Given the description of an element on the screen output the (x, y) to click on. 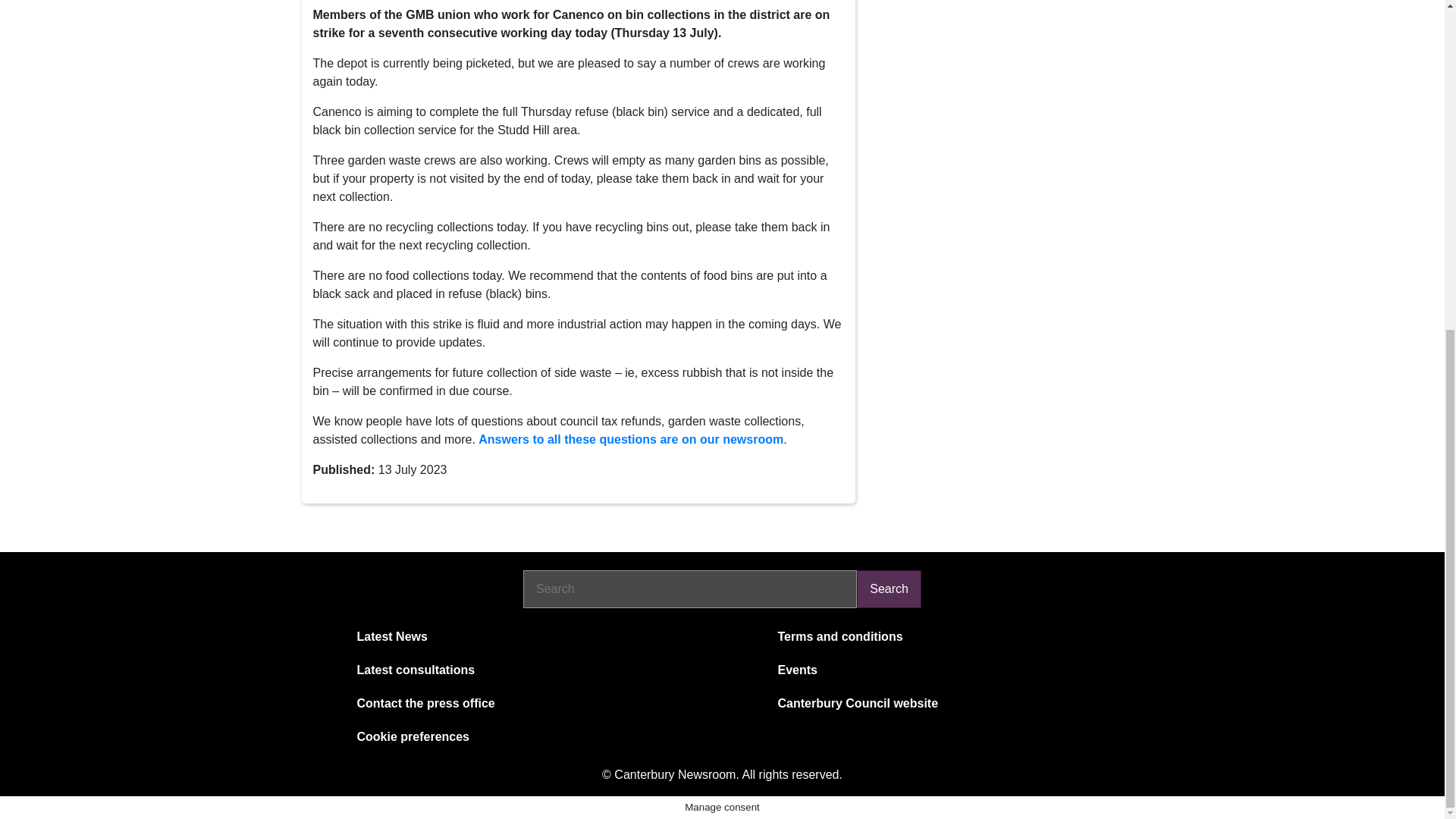
Cookie preferences (529, 737)
Latest News (529, 637)
Events (950, 669)
Terms and conditions (950, 637)
Answers to all these questions are on our newsroom (631, 439)
Latest consultations (529, 669)
Contact the press office (529, 703)
Canterbury Council website (950, 703)
Search (889, 589)
